Given the description of an element on the screen output the (x, y) to click on. 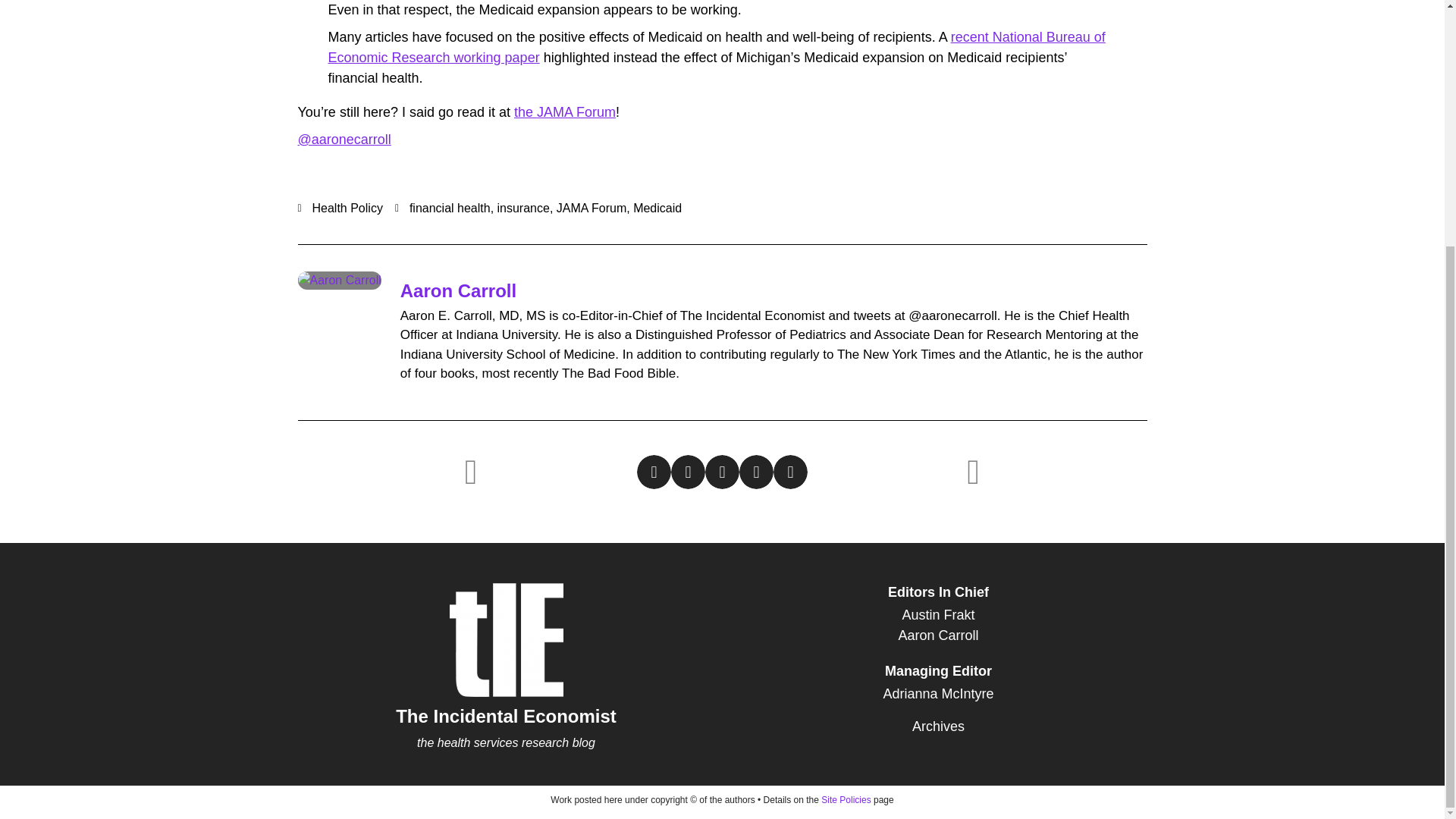
insurance (523, 207)
recent National Bureau of Economic Research working paper (716, 47)
Aaron Carroll (938, 635)
Medicaid (657, 207)
Health Policy (347, 207)
Austin Frakt (938, 615)
Adrianna McIntyre (938, 693)
Archives (938, 726)
JAMA Forum (591, 207)
Site Policies (845, 799)
financial health (449, 207)
the JAMA Forum (564, 111)
Aaron Carroll (458, 290)
